Given the description of an element on the screen output the (x, y) to click on. 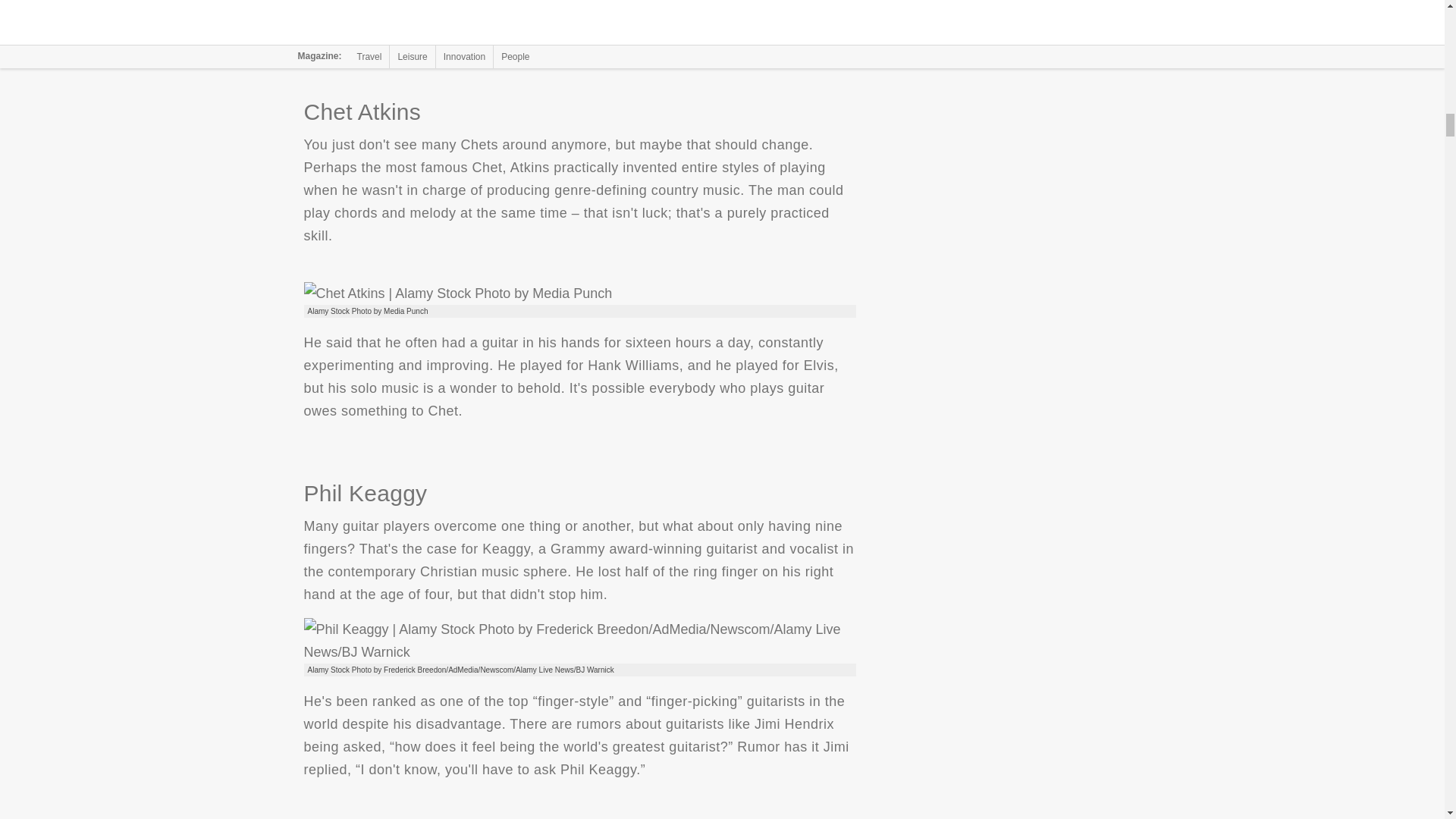
Phil Keaggy (579, 640)
Chet Atkins (456, 292)
